Given the description of an element on the screen output the (x, y) to click on. 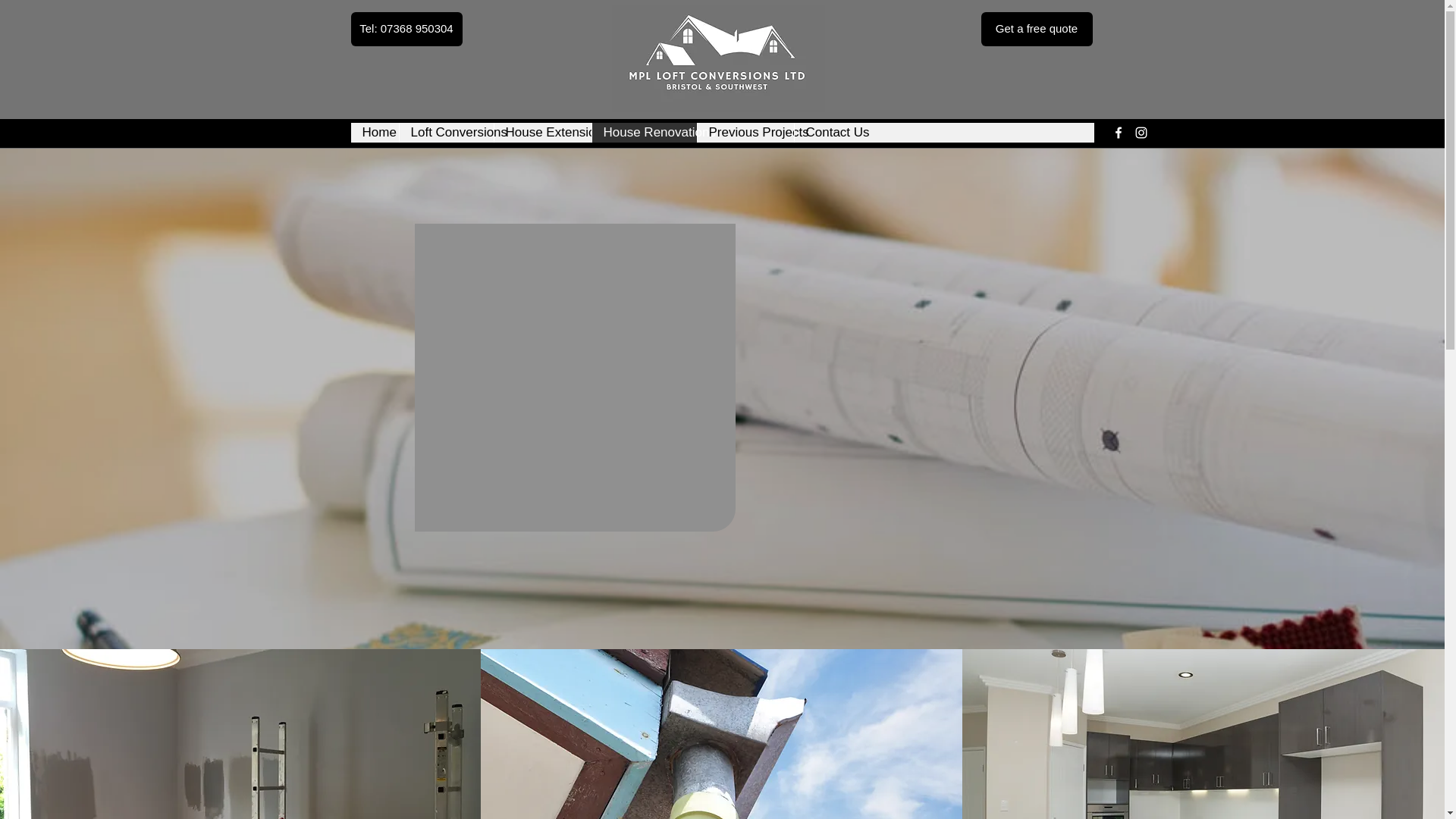
Previous Projects (744, 132)
House Extensions (542, 132)
Tel: 07368 950304 (405, 28)
Get a free quote (1037, 28)
Contact Us (828, 132)
Home (373, 132)
Loft Conversions (445, 132)
House Renovations (644, 132)
